Given the description of an element on the screen output the (x, y) to click on. 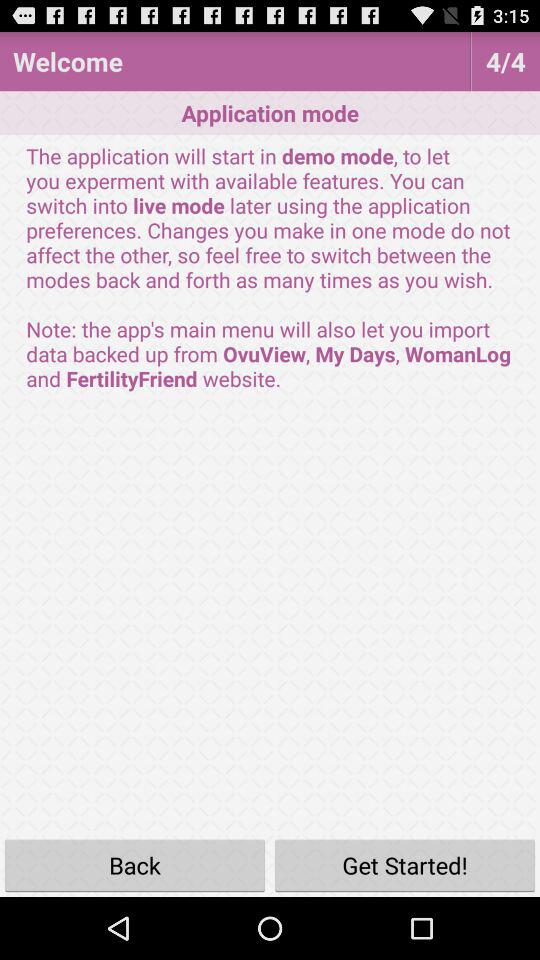
turn off icon at the bottom left corner (135, 864)
